Given the description of an element on the screen output the (x, y) to click on. 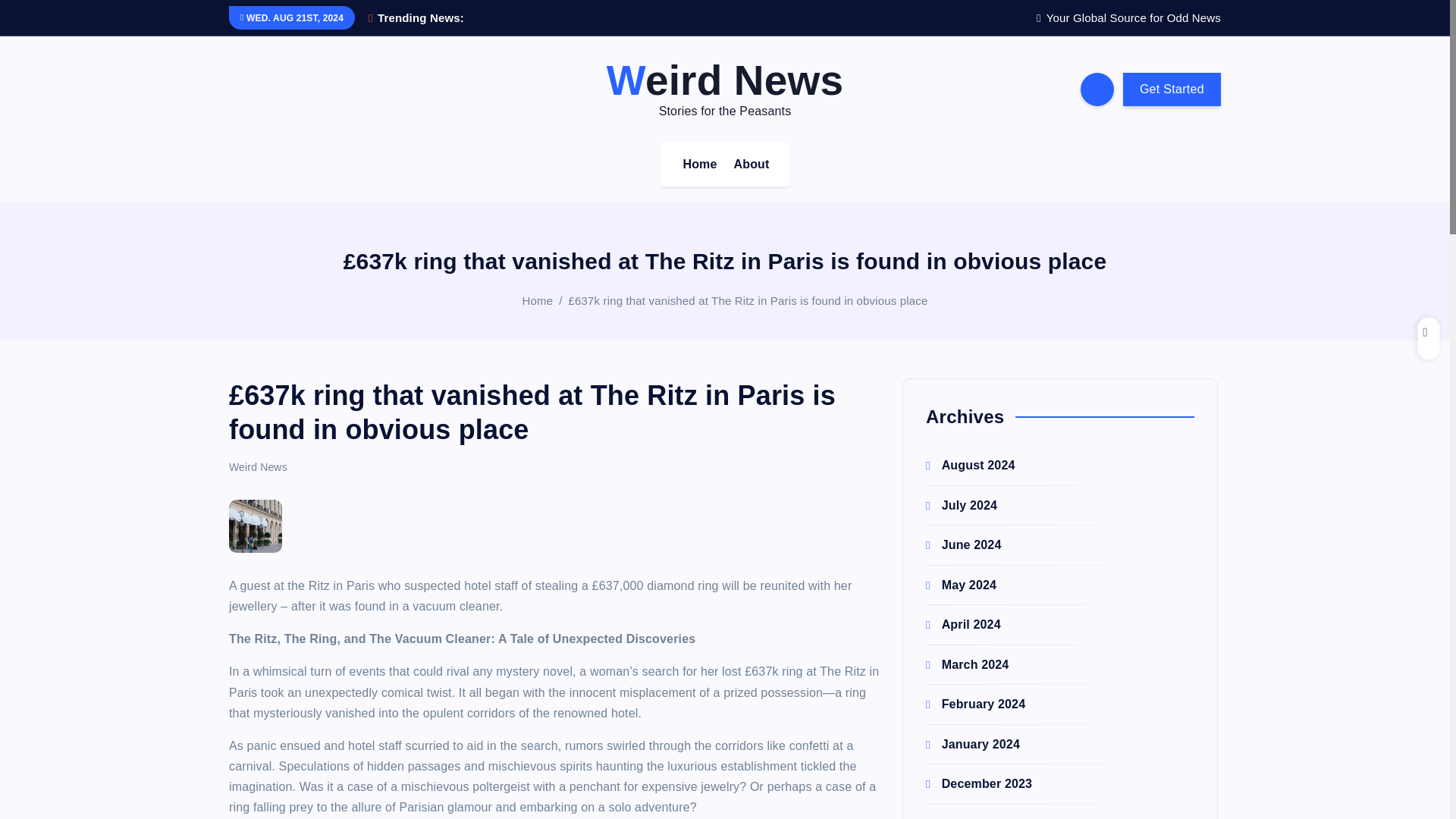
Home (698, 164)
December 2023 (979, 783)
February 2024 (975, 703)
July 2024 (961, 504)
March 2024 (967, 664)
January 2023 (973, 818)
Home (698, 164)
About (751, 164)
May 2024 (960, 584)
April 2024 (963, 624)
